Given the description of an element on the screen output the (x, y) to click on. 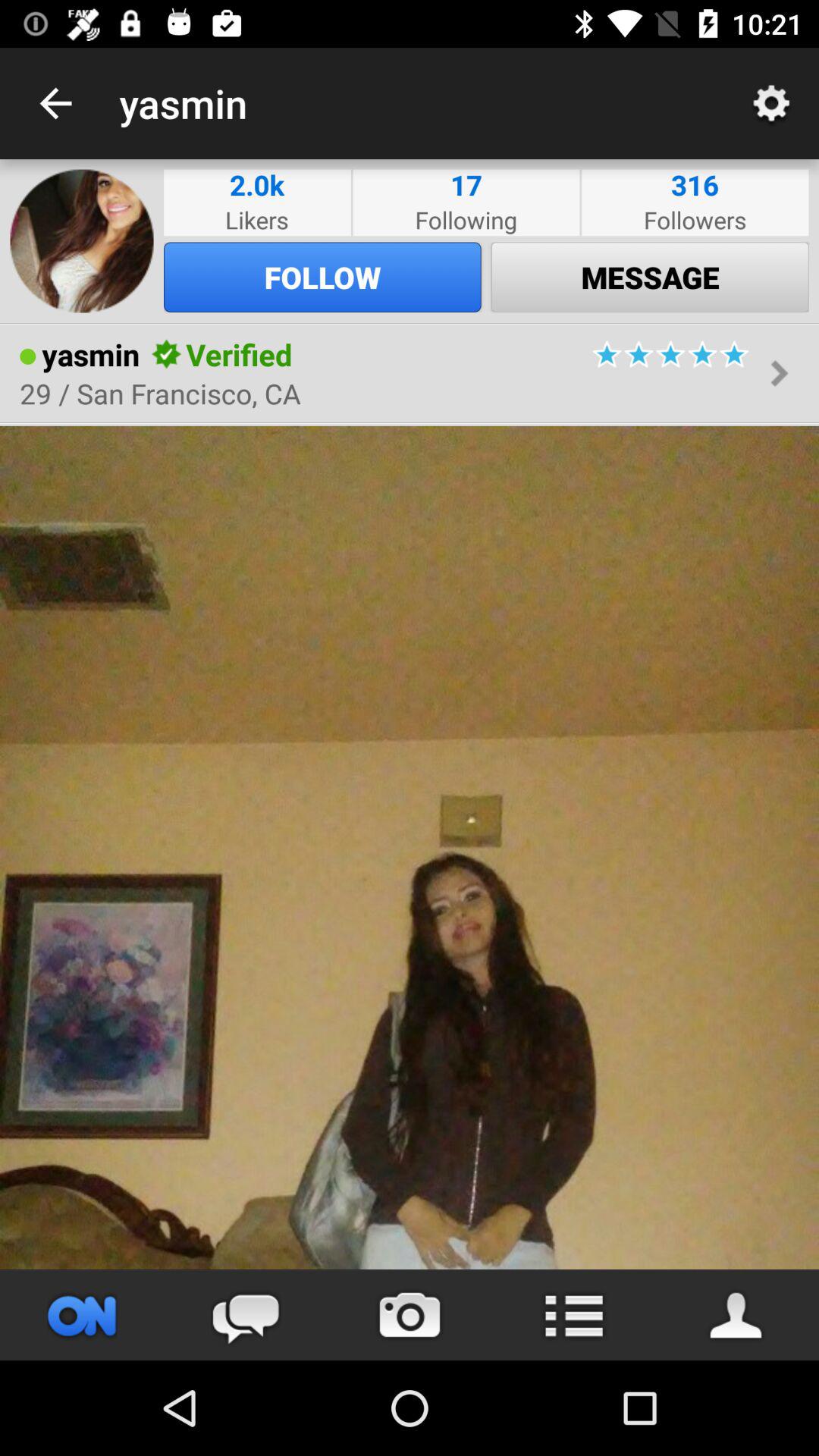
choose the icon next to the following item (256, 184)
